Given the description of an element on the screen output the (x, y) to click on. 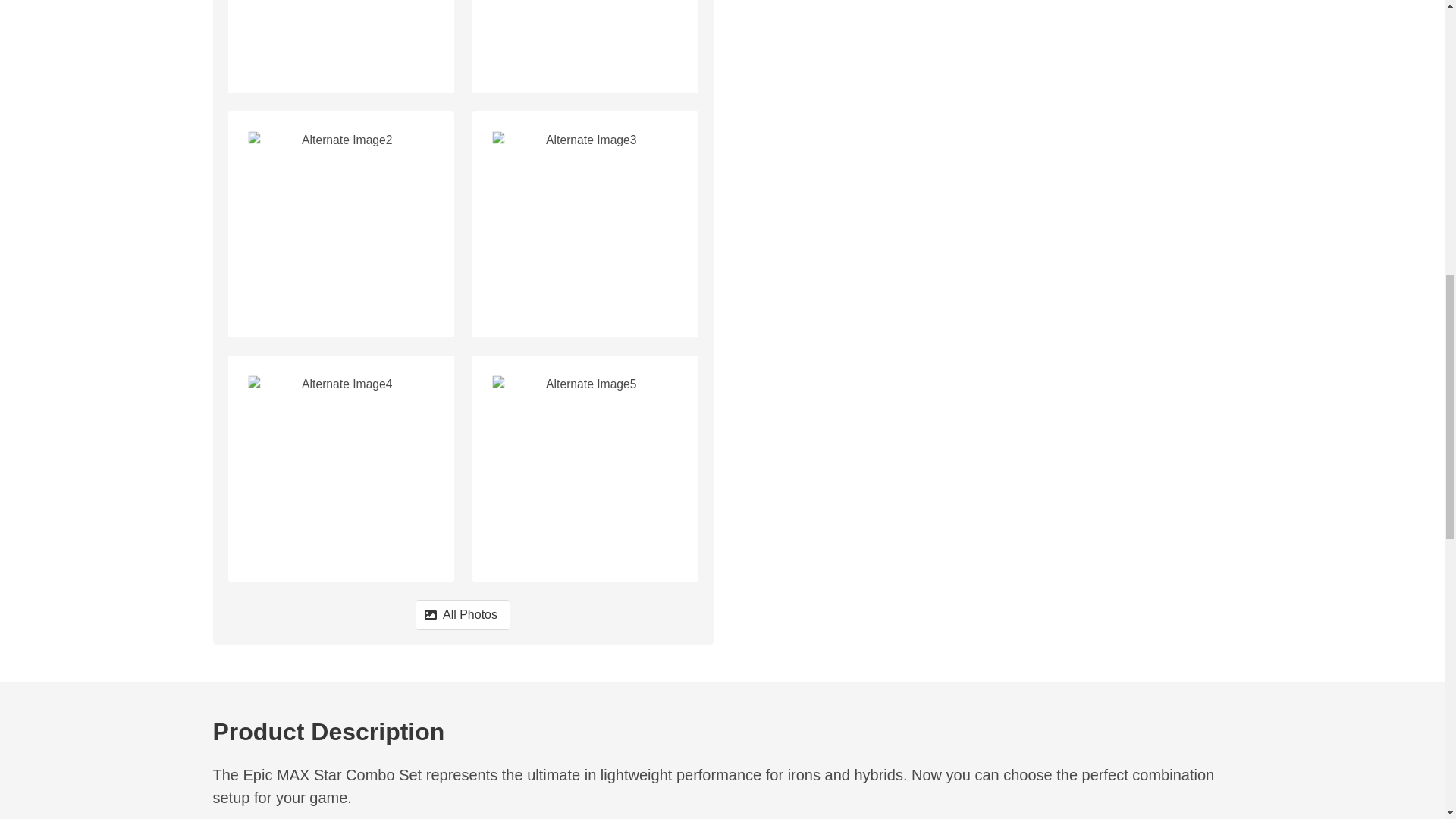
All Photos (462, 614)
